Given the description of an element on the screen output the (x, y) to click on. 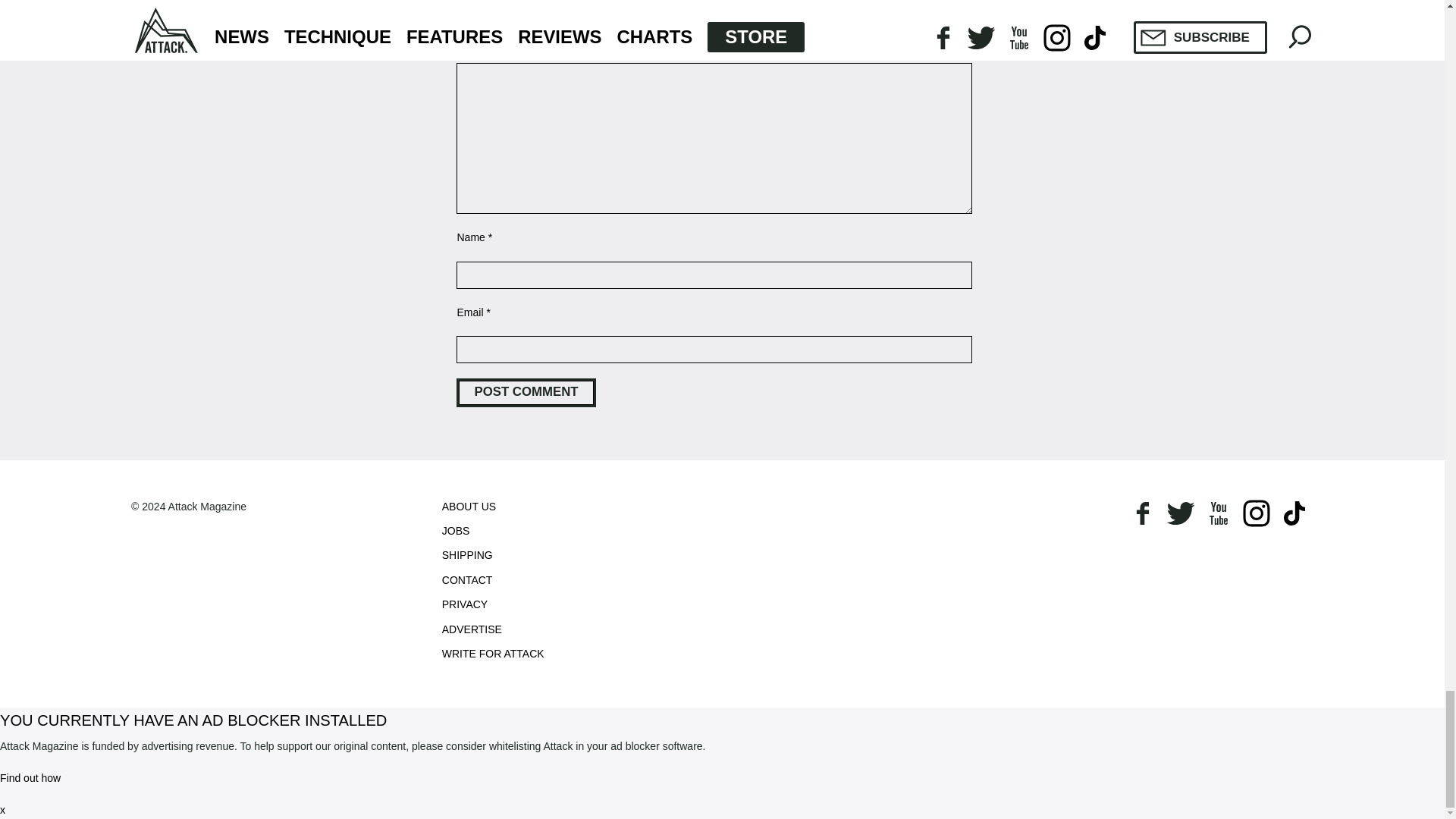
Post Comment (526, 392)
